Given the description of an element on the screen output the (x, y) to click on. 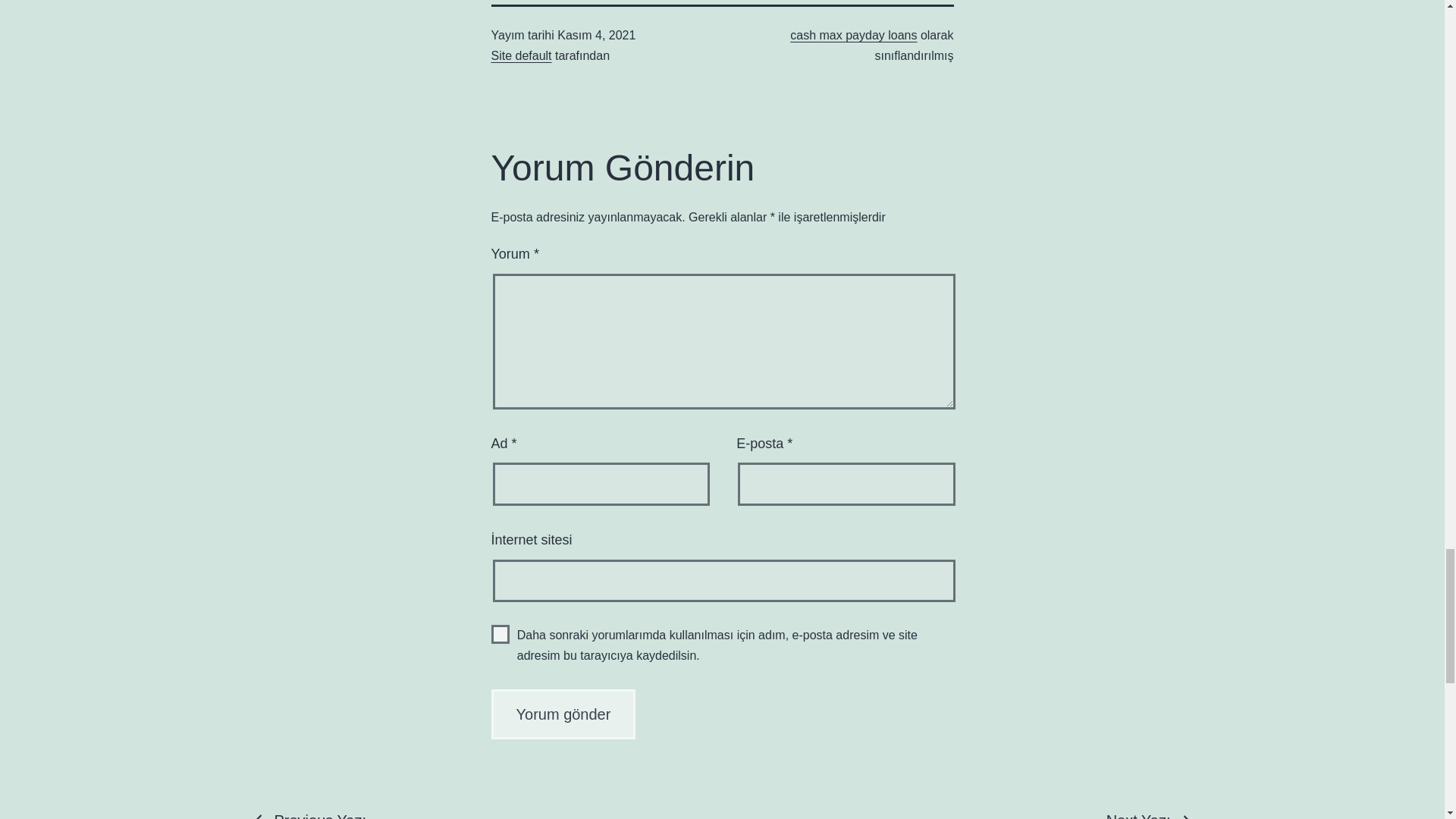
yes (500, 633)
cash max payday loans (853, 34)
Site default (521, 55)
